Given the description of an element on the screen output the (x, y) to click on. 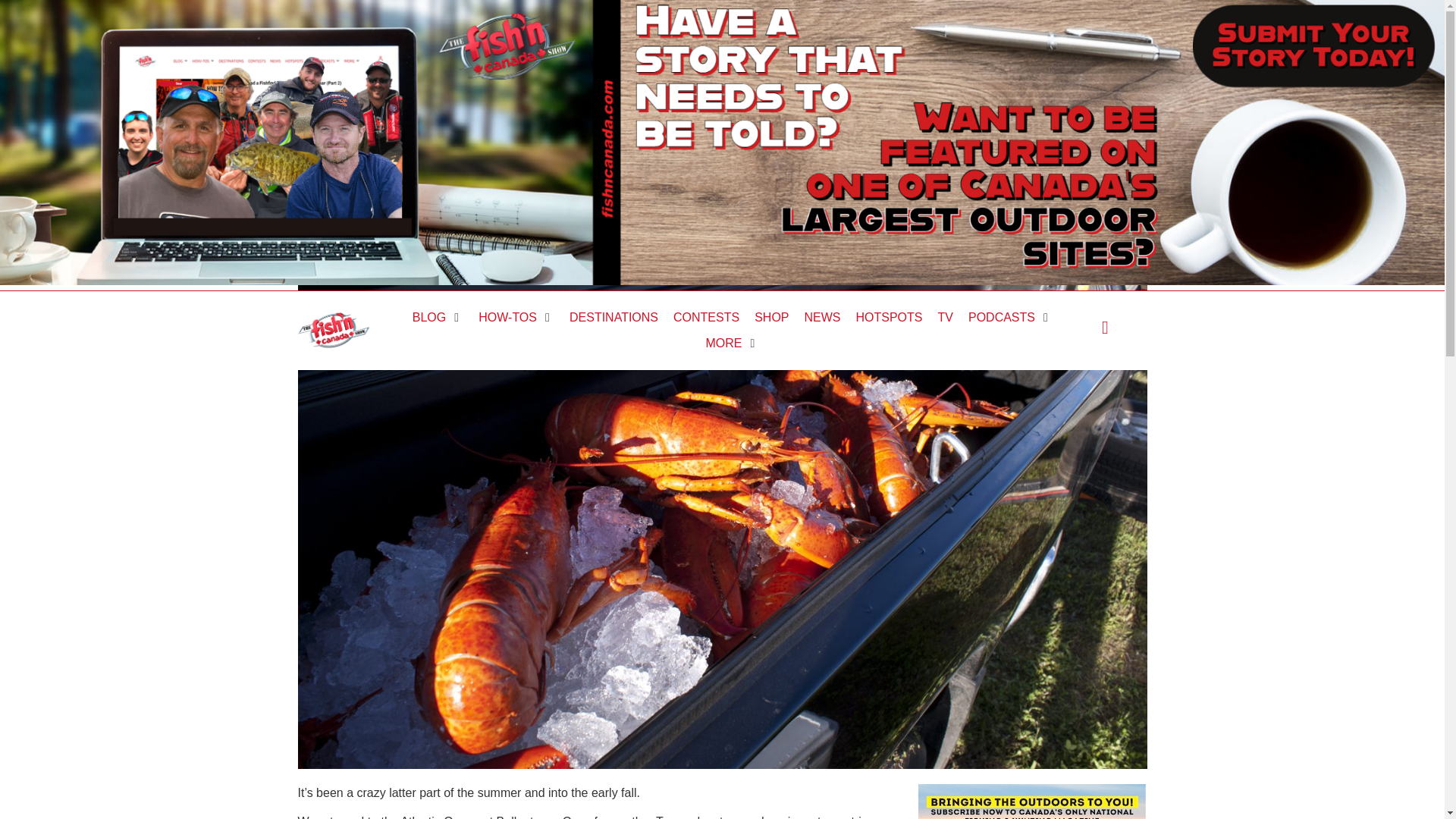
HOW-TOS (508, 317)
BLOG (428, 317)
DESTINATIONS (613, 317)
